Given the description of an element on the screen output the (x, y) to click on. 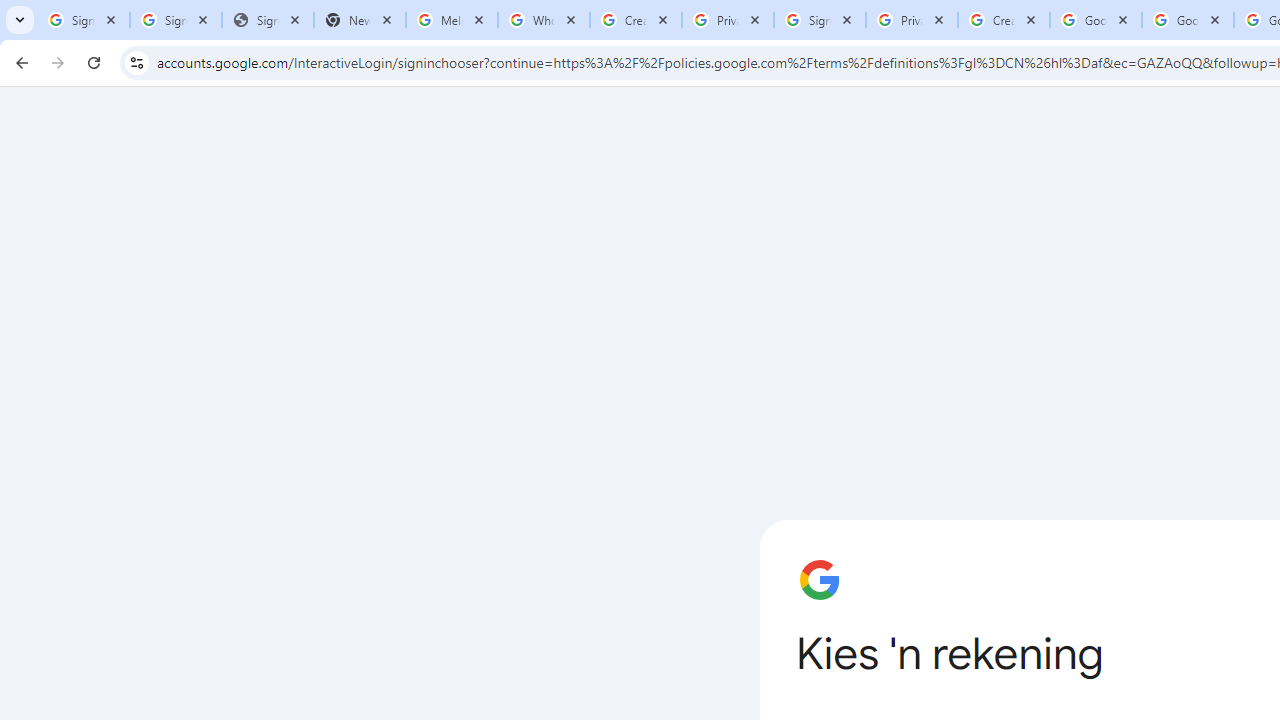
Sign in - Google Accounts (83, 20)
New Tab (359, 20)
Create your Google Account (636, 20)
Who is my administrator? - Google Account Help (543, 20)
Create your Google Account (1003, 20)
Sign in - Google Accounts (820, 20)
